Given the description of an element on the screen output the (x, y) to click on. 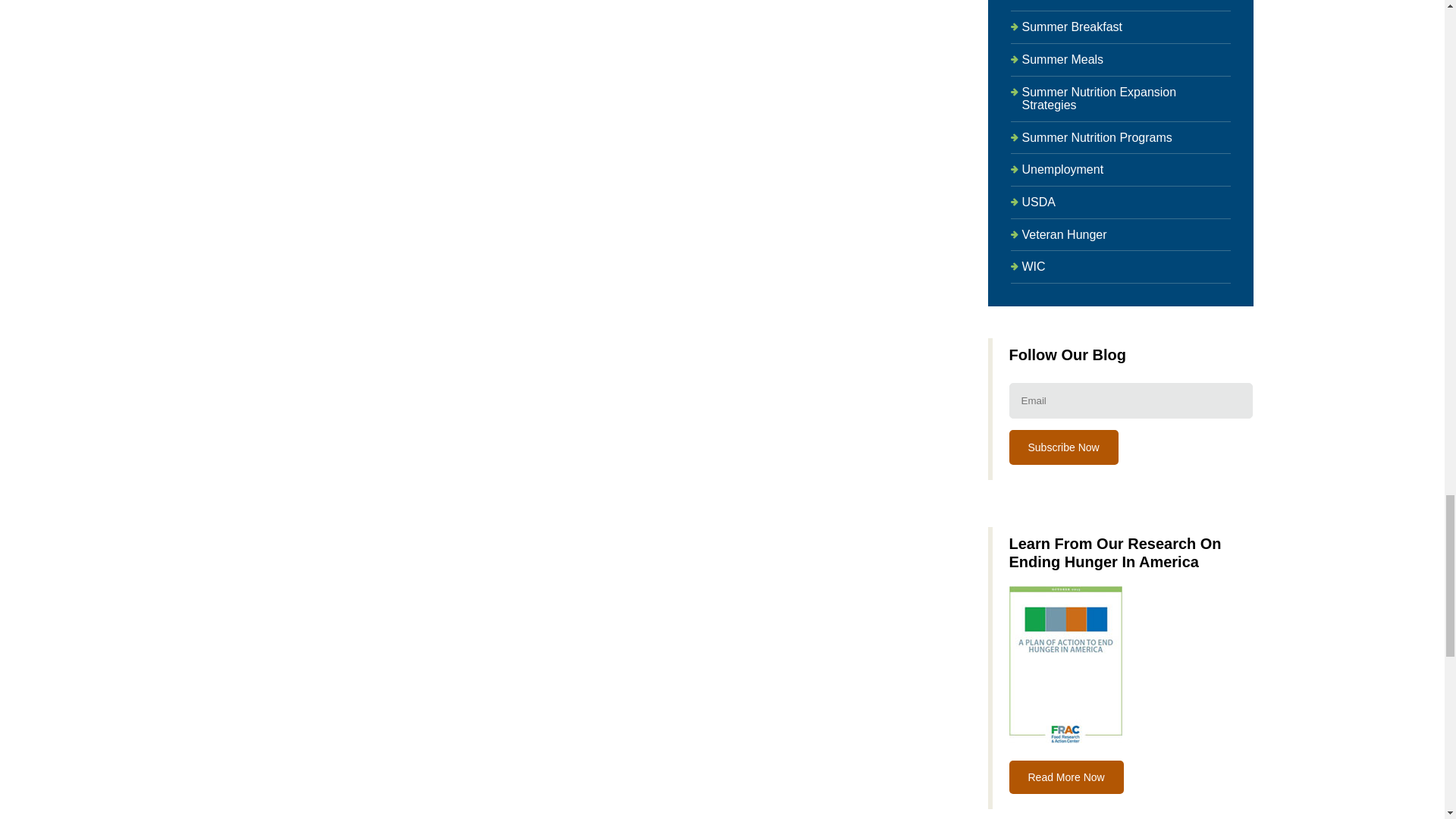
Subscribe Now (1063, 447)
